Given the description of an element on the screen output the (x, y) to click on. 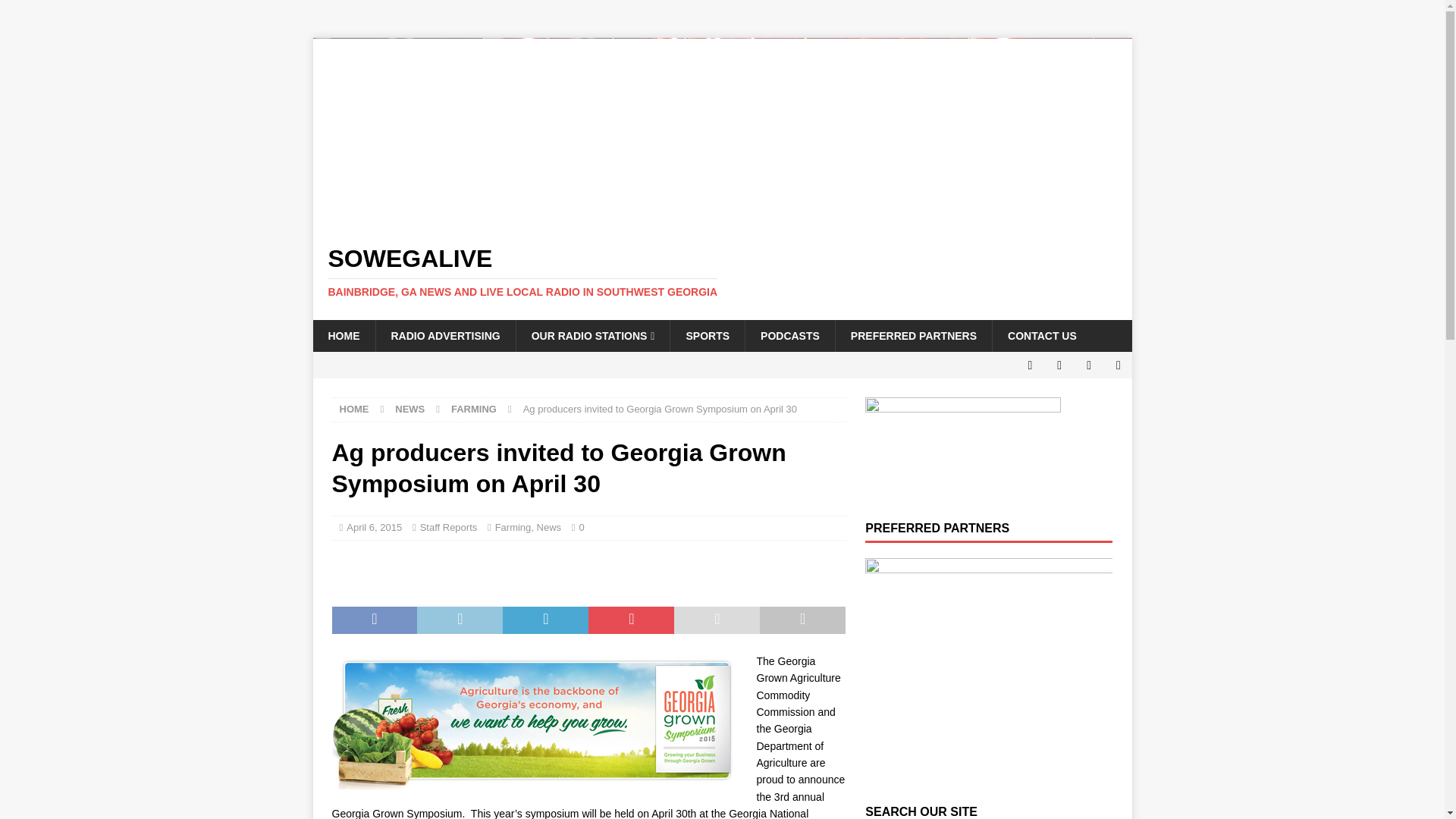
RADIO ADVERTISING (444, 336)
April 6, 2015 (373, 527)
News (549, 527)
Sowegalive (721, 272)
HOME (343, 336)
Sowegalive (722, 218)
OUR RADIO STATIONS (592, 336)
NEWS (409, 408)
HOME (354, 408)
